Given the description of an element on the screen output the (x, y) to click on. 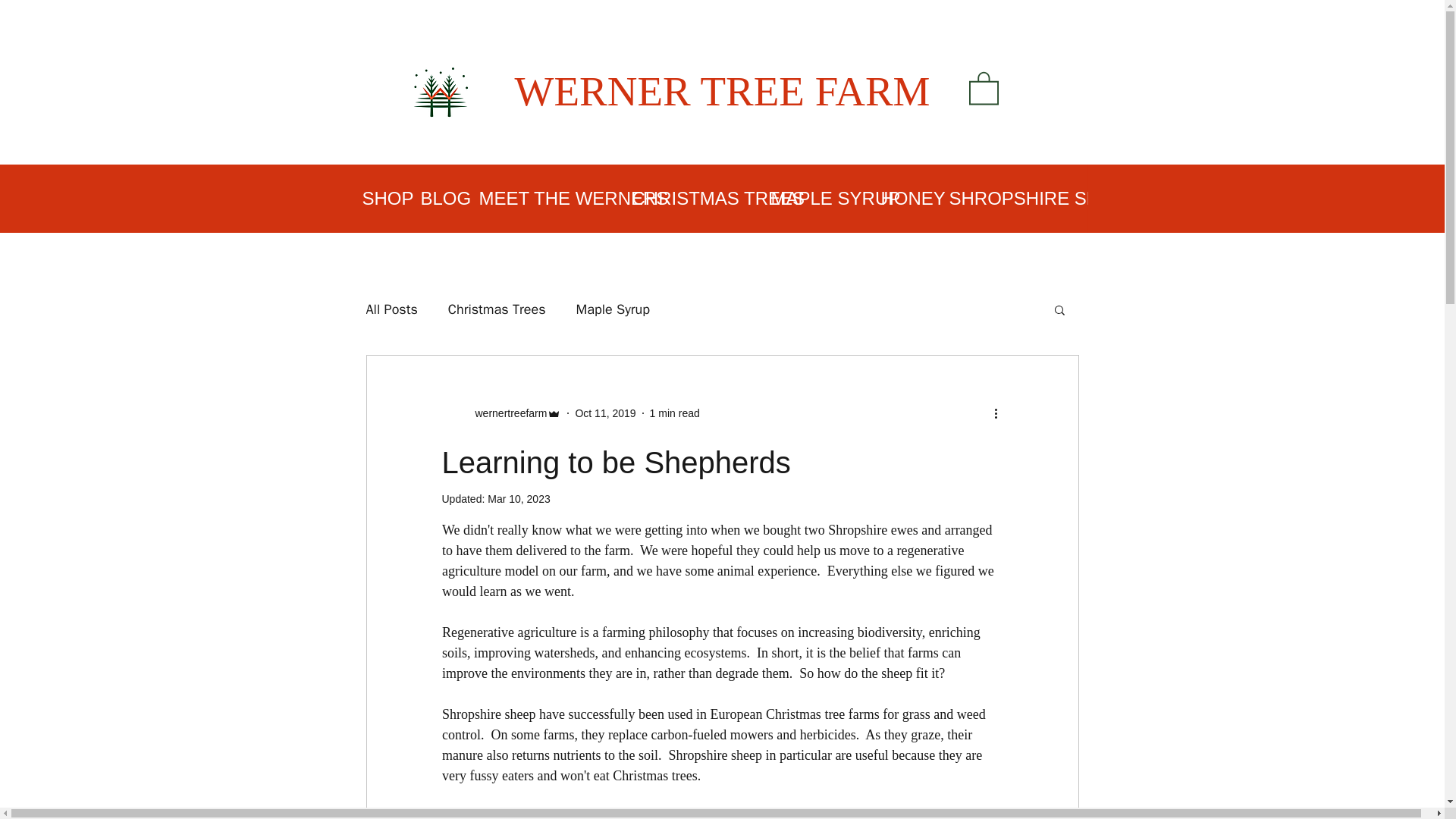
CHRISTMAS TREES (689, 198)
SHROPSHIRE SHEEP (1011, 198)
wernertreefarm (506, 412)
1 min read (674, 412)
WERNER TREE FARM (721, 90)
Mar 10, 2023 (518, 499)
MEET THE WERNERS (543, 198)
HONEY (903, 198)
Oct 11, 2019 (604, 412)
All Posts (390, 309)
